Given the description of an element on the screen output the (x, y) to click on. 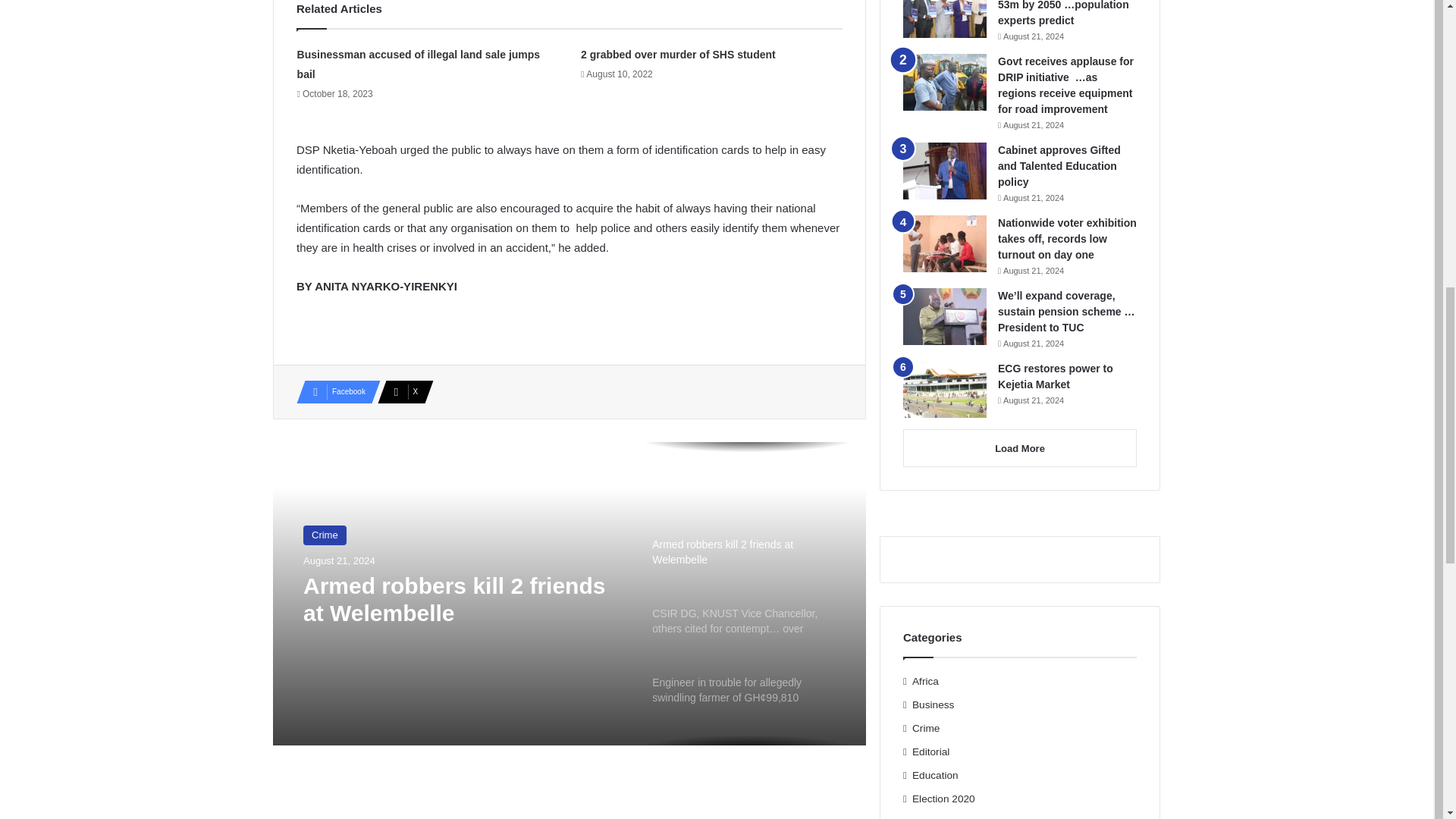
X (401, 391)
Crime (324, 535)
X (401, 391)
Facebook (334, 391)
Facebook (334, 391)
2 grabbed over murder of SHS student (678, 54)
Armed robbers kill 2 friends at Welembelle (462, 599)
Businessman accused of illegal land sale jumps bail (418, 64)
